Given the description of an element on the screen output the (x, y) to click on. 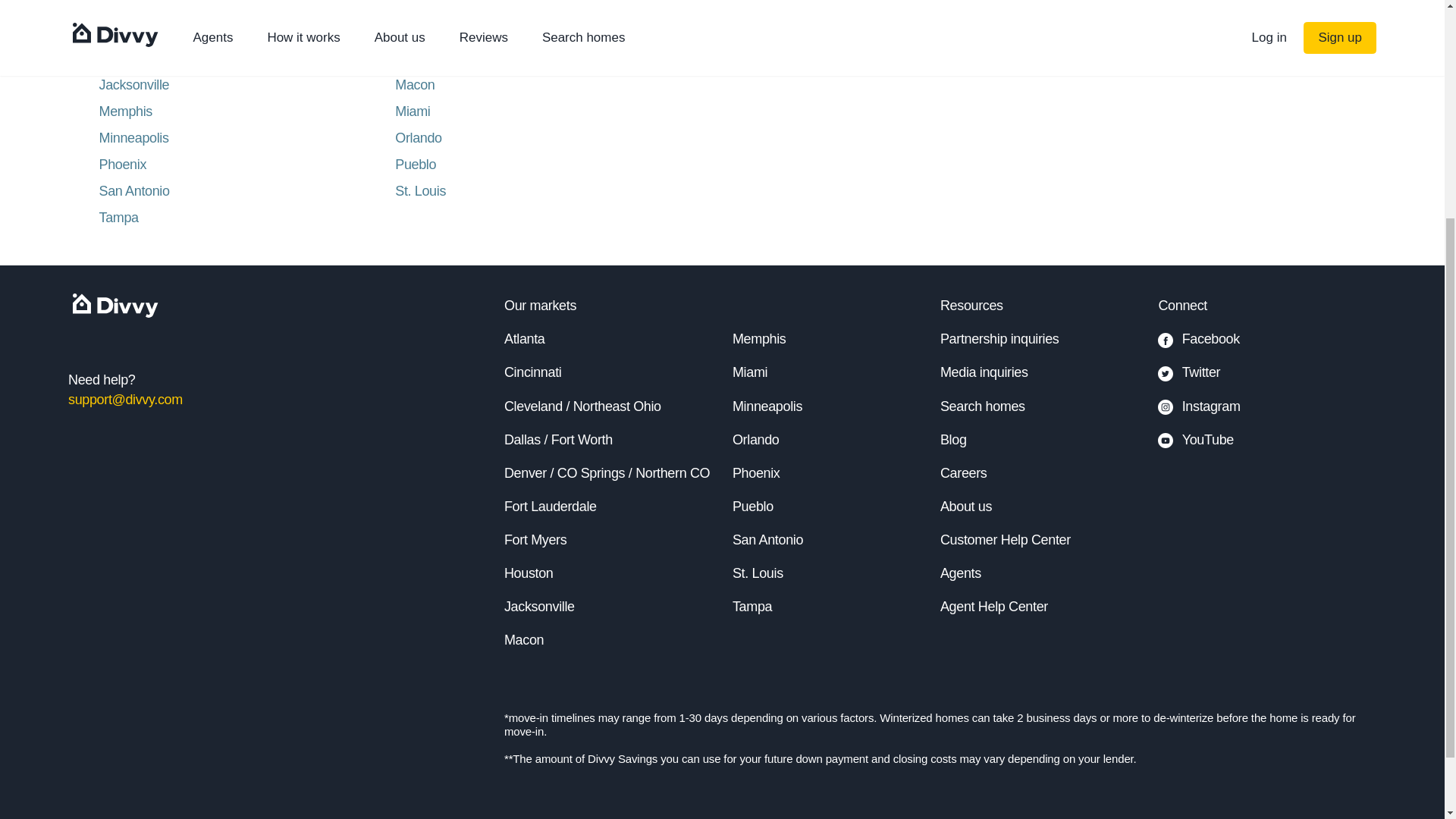
Fort Lauderdale (542, 30)
Fort Myers (534, 539)
Miami (749, 372)
Fort Lauderdale (549, 506)
Memphis (759, 338)
St. Louis (542, 190)
Jacksonville (246, 85)
Cincinnati (531, 372)
Miami (542, 111)
Houston (528, 572)
